Given the description of an element on the screen output the (x, y) to click on. 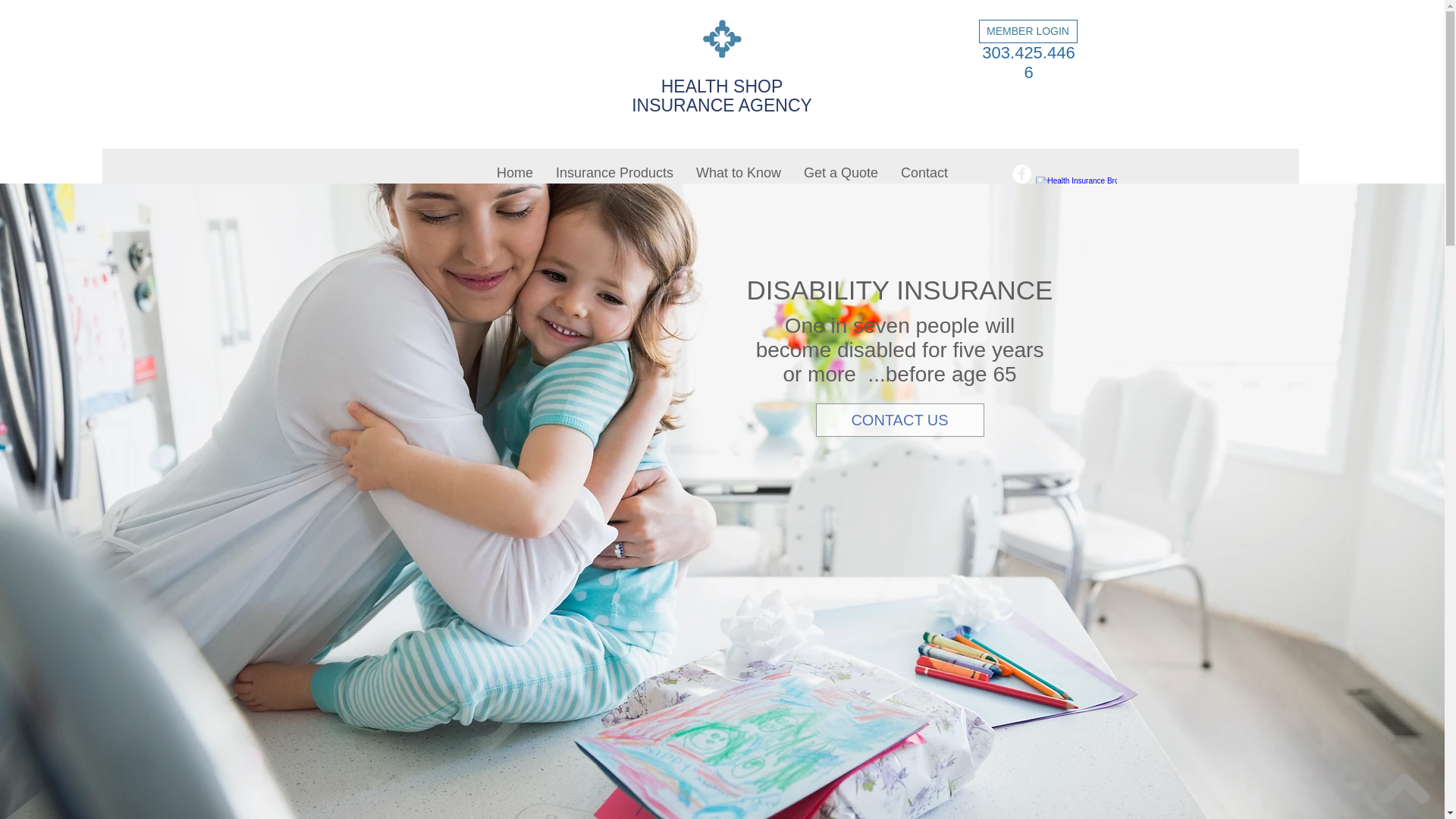
CONTACT US (899, 419)
Contact (924, 172)
HEALTH (695, 86)
MEMBER LOGIN (1027, 31)
Home (514, 172)
